Given the description of an element on the screen output the (x, y) to click on. 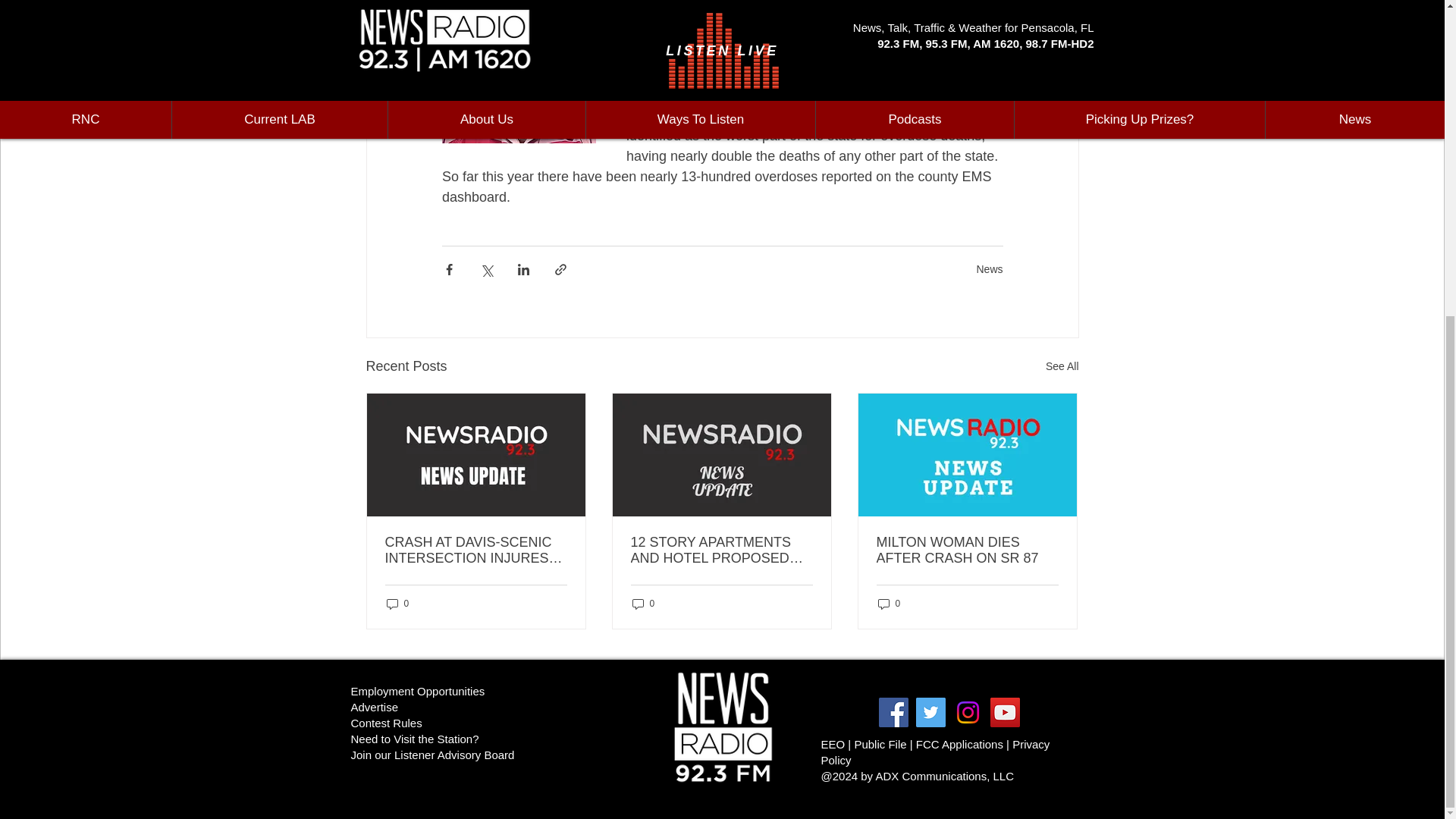
0 (397, 603)
News (989, 268)
See All (1061, 366)
